Given the description of an element on the screen output the (x, y) to click on. 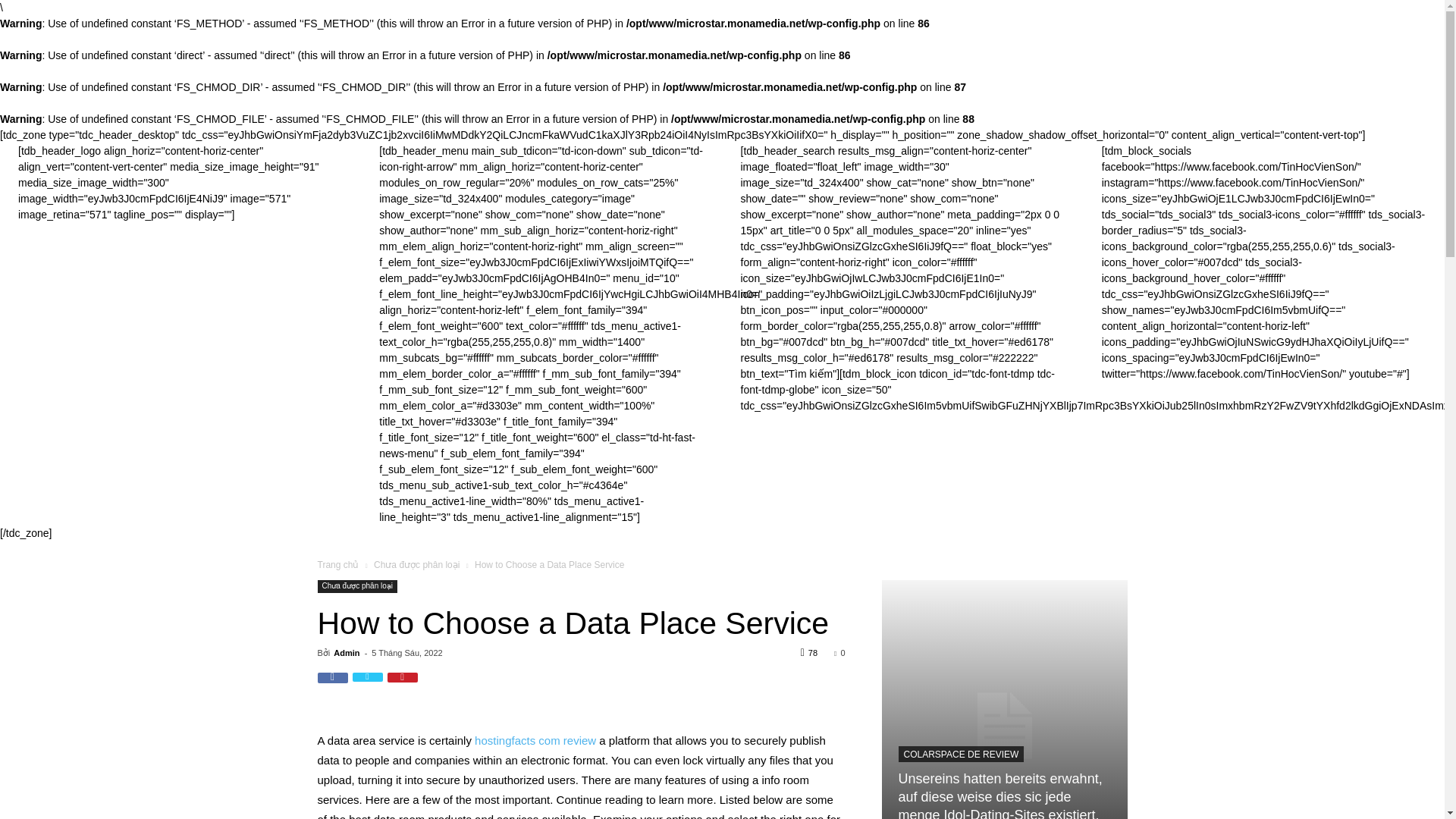
0 (839, 652)
Admin (346, 652)
hostingfacts com review (534, 739)
